Given the description of an element on the screen output the (x, y) to click on. 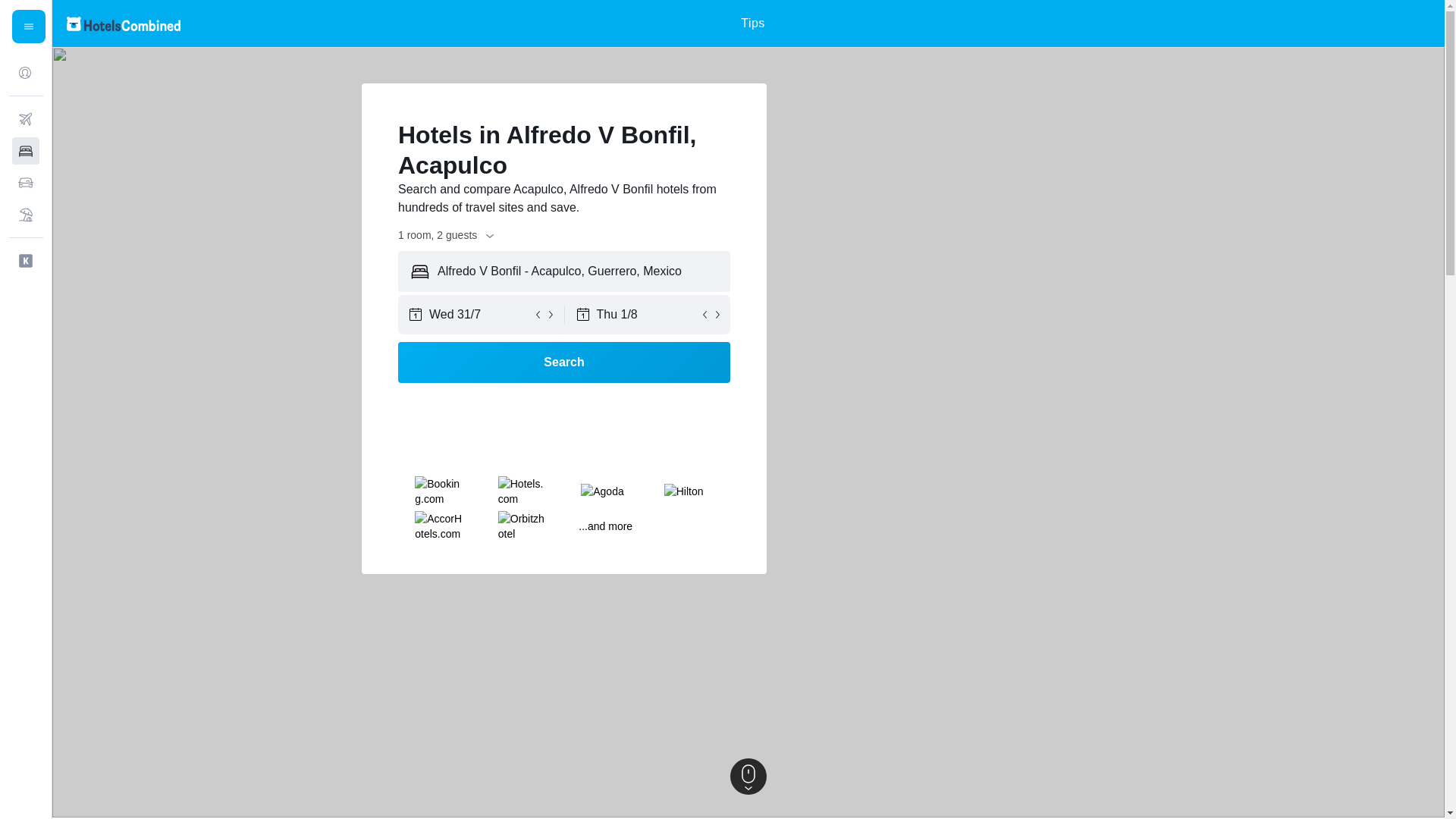
Search (563, 362)
1 room, 2 guests (446, 235)
Search (563, 362)
